Given the description of an element on the screen output the (x, y) to click on. 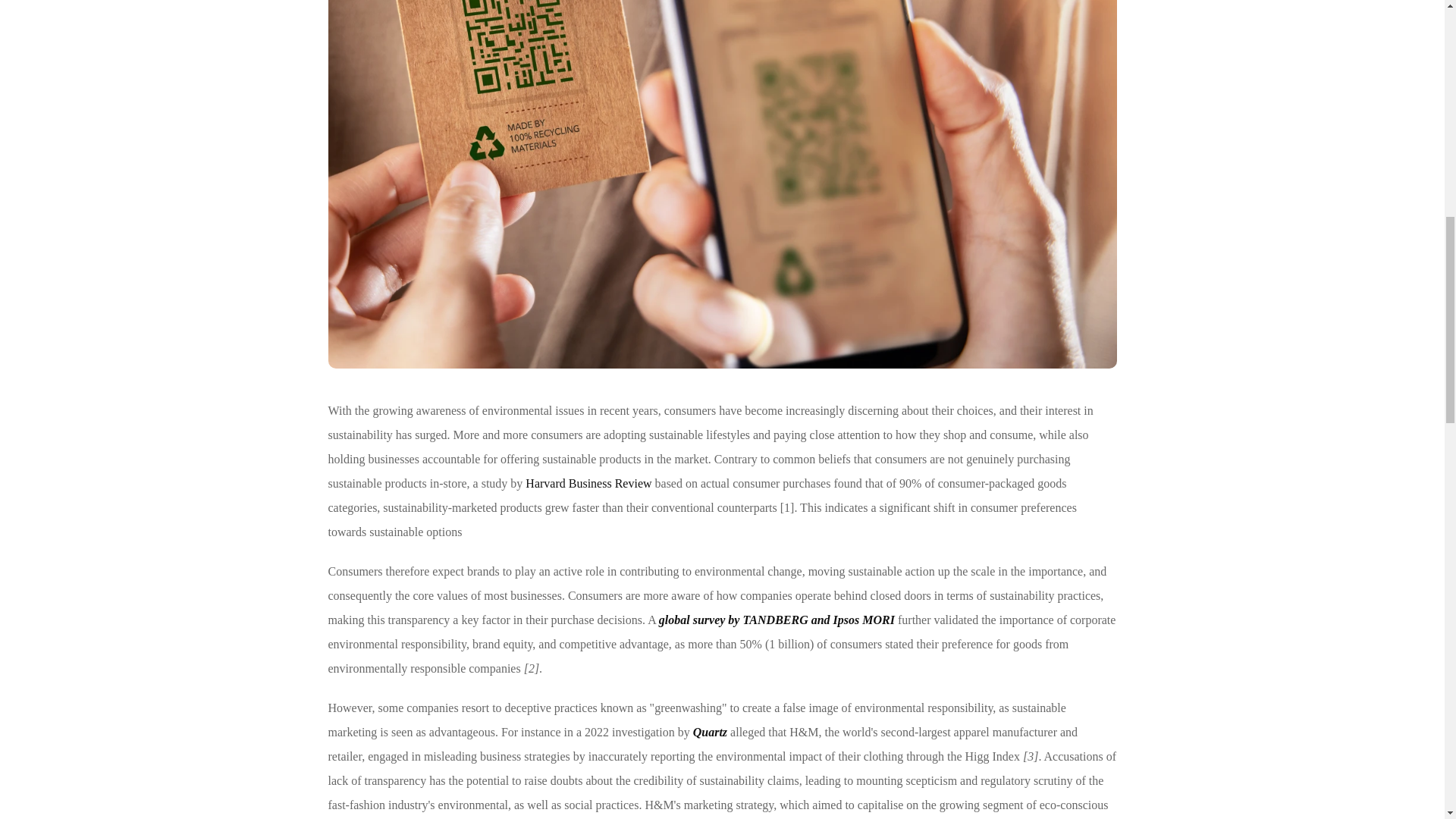
Quartz (709, 731)
global survey by TANDBERG and Ipsos MORI (777, 619)
Harvard Business Review (587, 482)
